Given the description of an element on the screen output the (x, y) to click on. 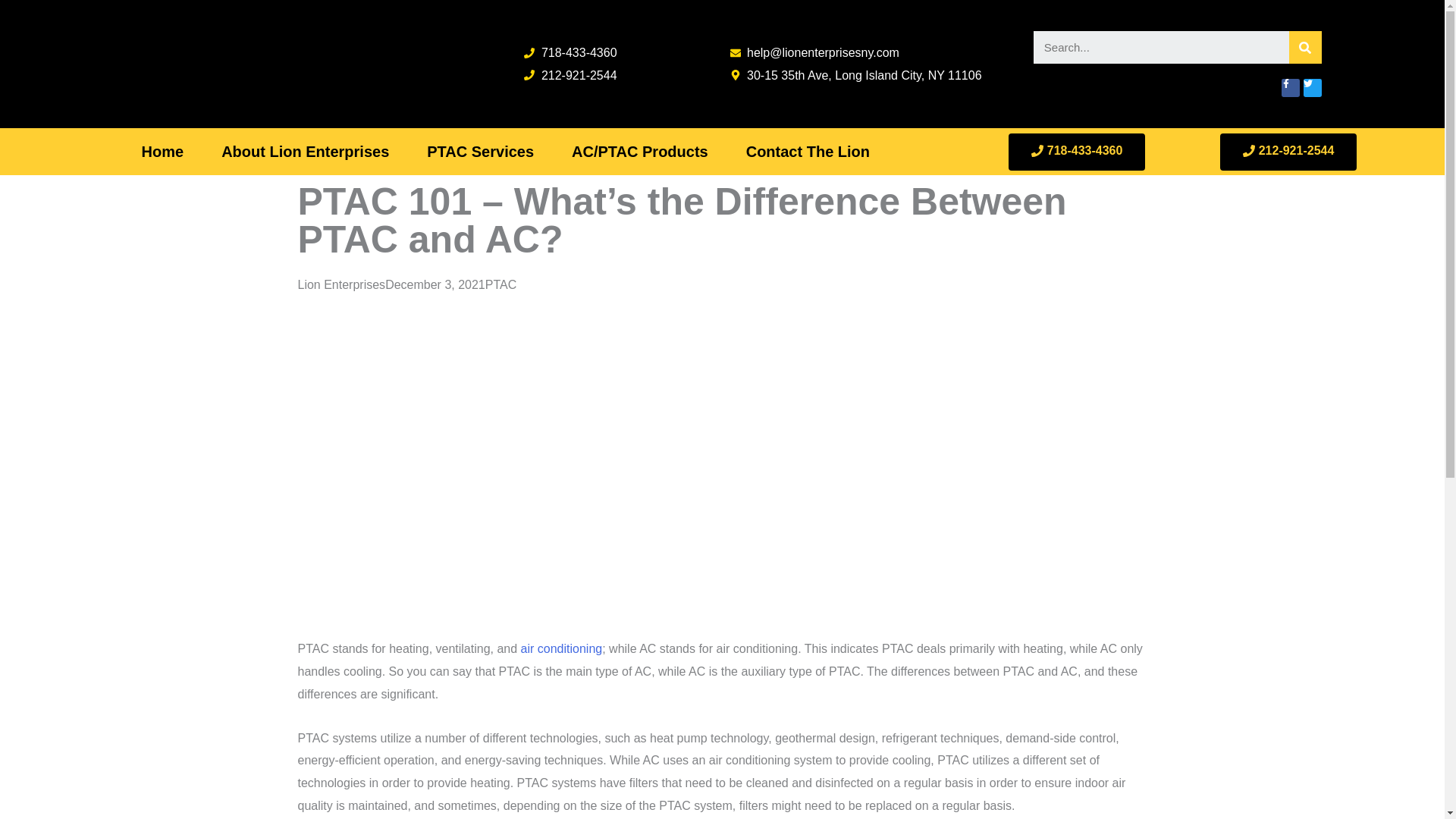
Facebook-f (1290, 87)
PTAC Services (480, 151)
Contact The Lion (807, 151)
212-921-2544 (570, 74)
212-921-2544 (1288, 151)
air conditioning (561, 648)
Home (162, 151)
Search (1305, 47)
718-433-4360 (570, 52)
Twitter (1311, 87)
